Given the description of an element on the screen output the (x, y) to click on. 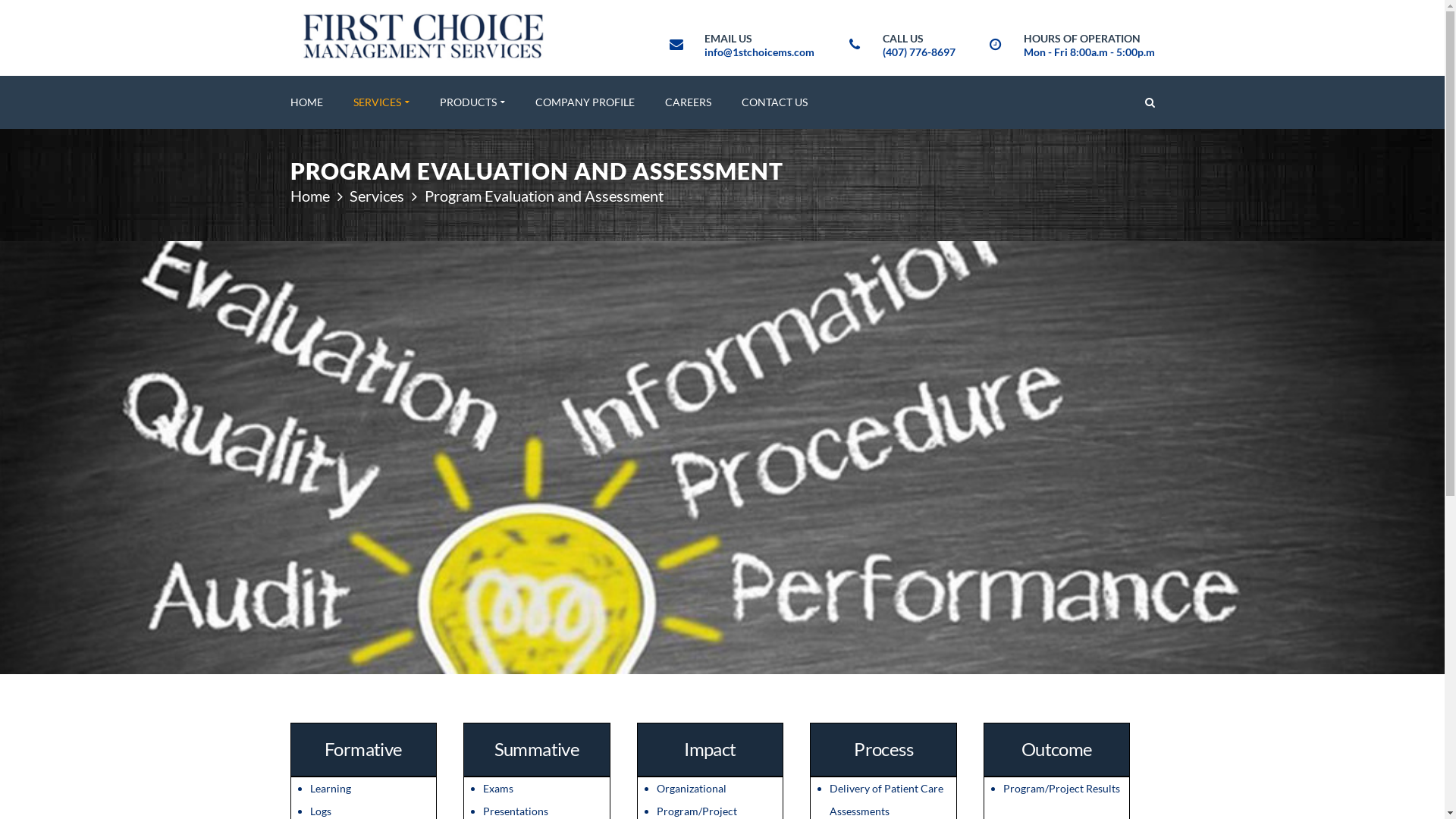
HOME Element type: text (305, 101)
info@1stchoicems.com Element type: text (758, 51)
CONTACT US Element type: text (774, 101)
CAREERS Element type: text (687, 101)
PRODUCTS Element type: text (472, 101)
Services Element type: text (376, 195)
COMPANY PROFILE Element type: text (584, 101)
Home Element type: text (309, 195)
SERVICES Element type: text (381, 101)
